Given the description of an element on the screen output the (x, y) to click on. 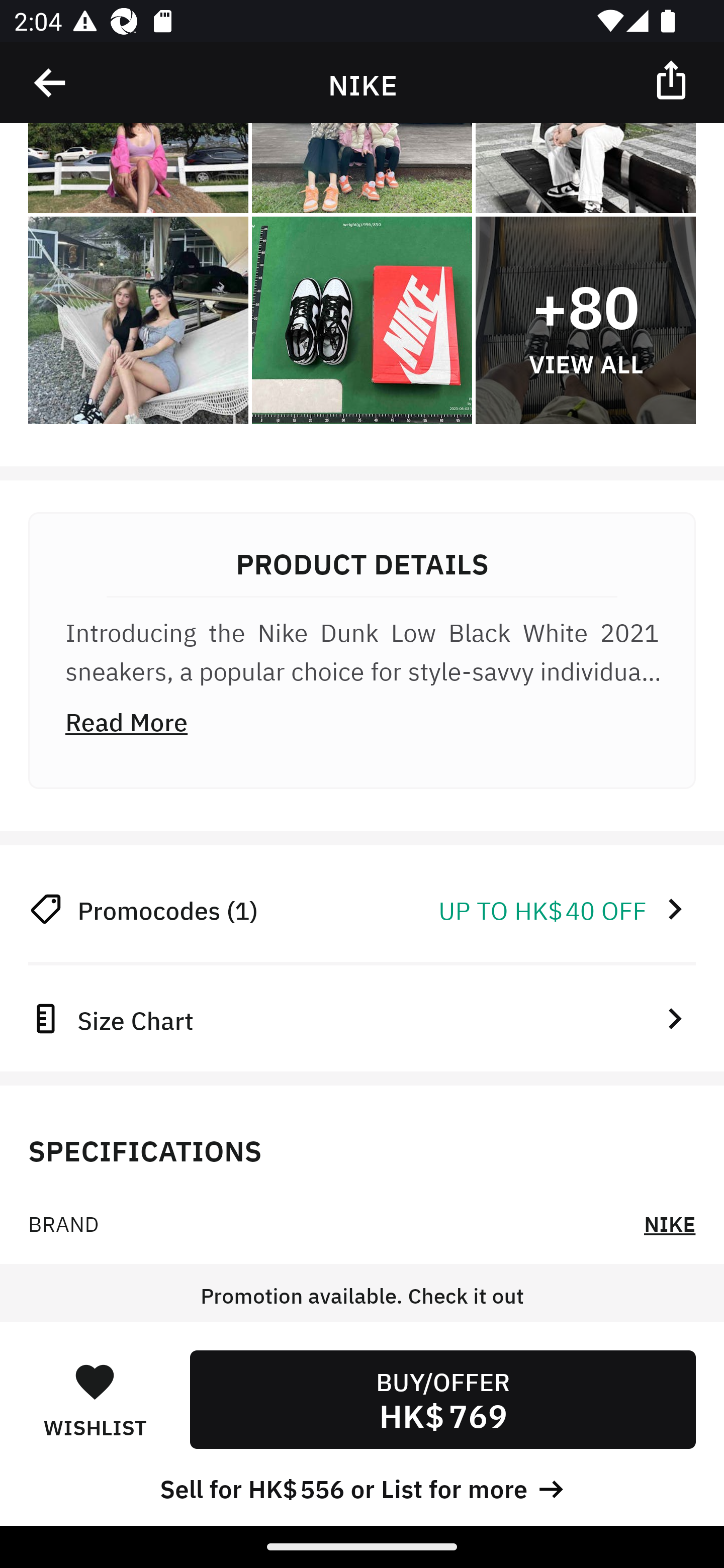
 (50, 83)
 (672, 79)
Promocodes (1) UP TO HK$ 40 OFF  (361, 908)
Size Chart  (361, 1018)
NIKE (669, 1222)
BUY/OFFER HK$ 769 (442, 1399)
󰋑 (94, 1380)
Sell for HK$ 556 or List for more (361, 1486)
